Given the description of an element on the screen output the (x, y) to click on. 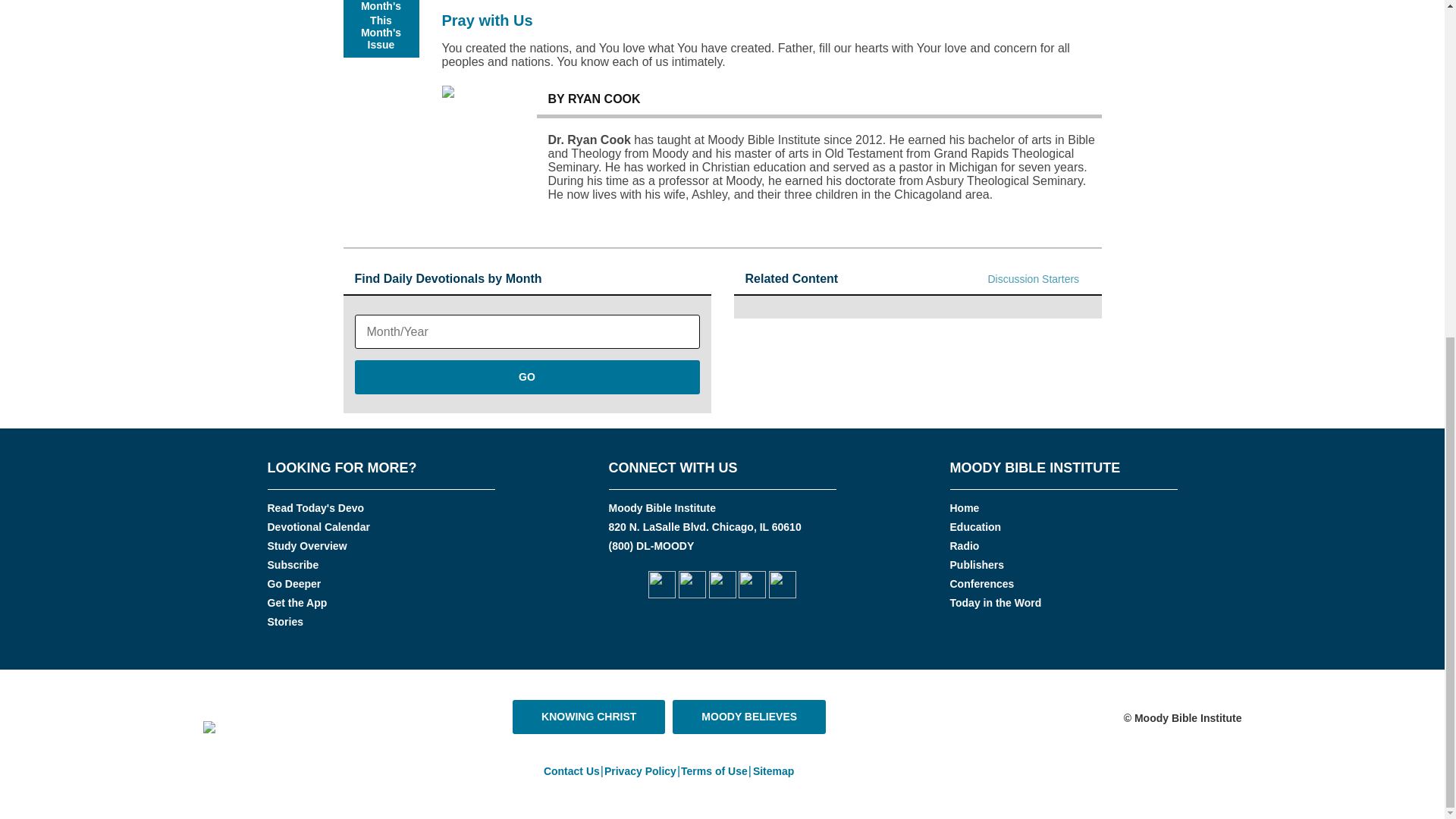
Go (527, 376)
Subscribe (292, 564)
Stories (284, 621)
Devotional Calendar (317, 526)
Study Overview (306, 545)
Get the App (296, 603)
Read Today's Devo (315, 508)
Go (527, 376)
This Month's Issue (380, 28)
Go Deeper (293, 583)
